Given the description of an element on the screen output the (x, y) to click on. 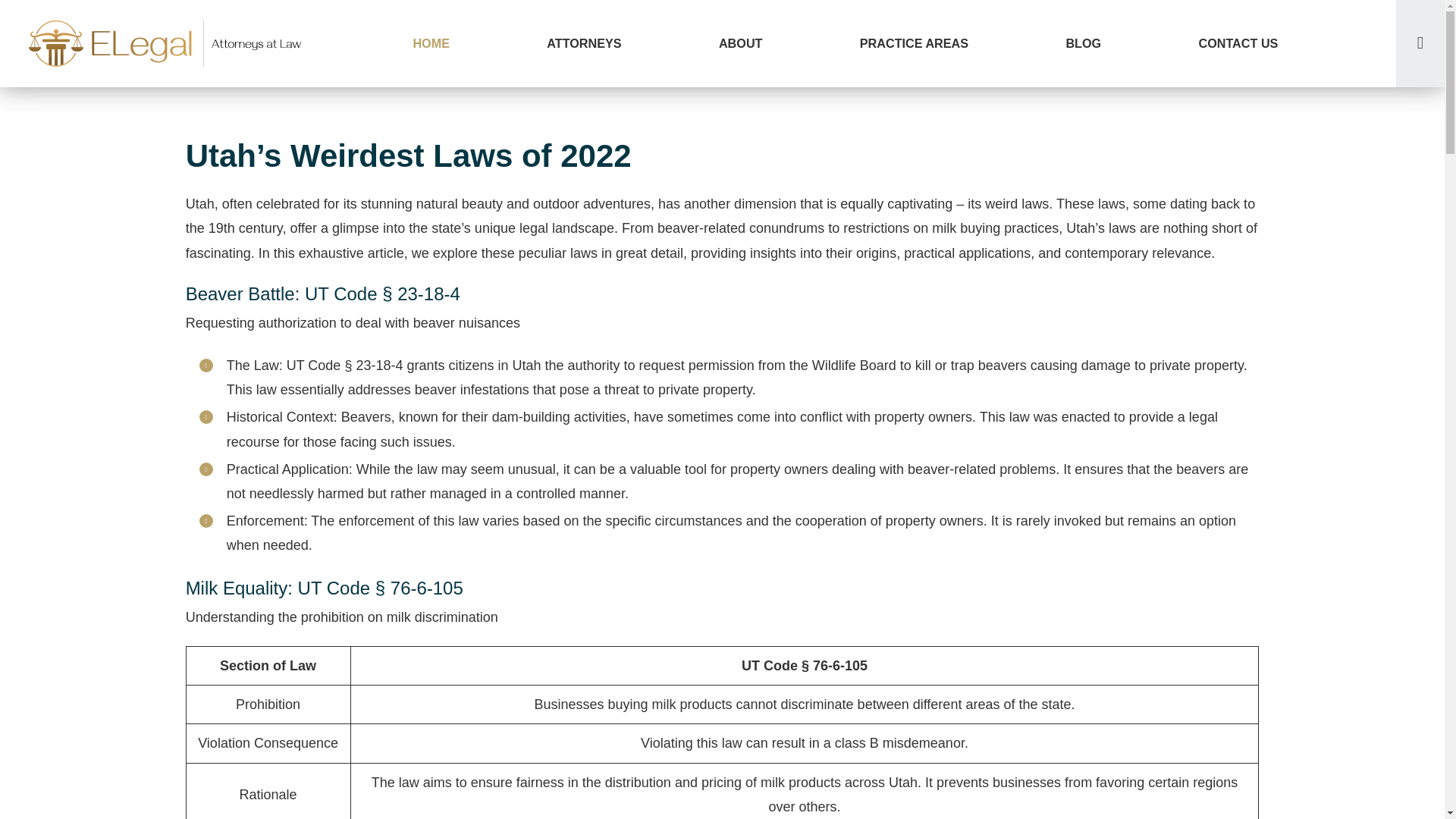
BLOG (1083, 43)
Elegal (167, 43)
ABOUT (739, 43)
ATTORNEYS (583, 43)
PRACTICE AREAS (913, 43)
HOME (430, 43)
